Given the description of an element on the screen output the (x, y) to click on. 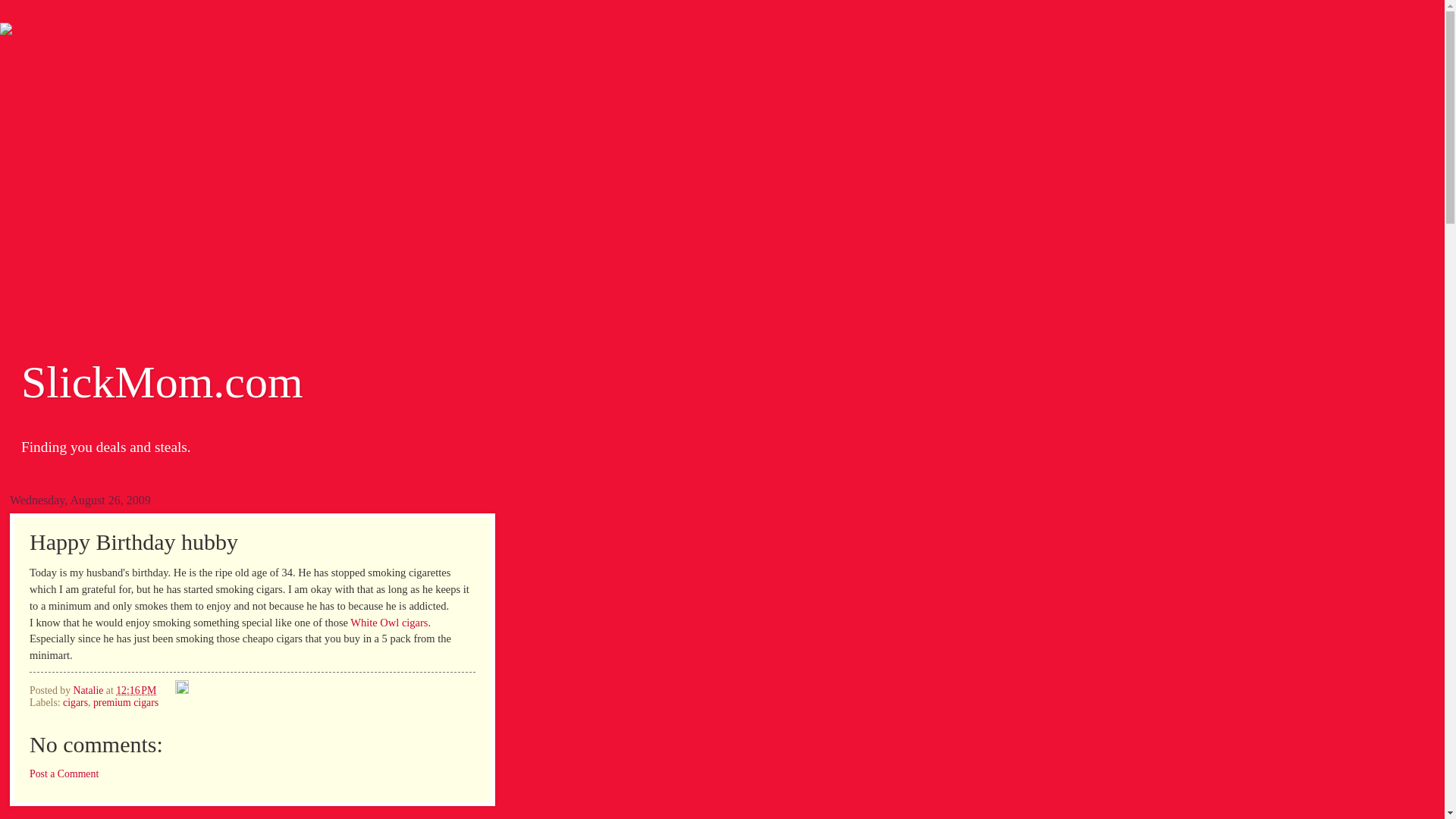
Post a Comment (64, 773)
White Owl cigars (389, 622)
Email Post (166, 690)
cigars (74, 702)
Edit Post (181, 690)
premium cigars (125, 702)
author profile (88, 690)
permanent link (135, 690)
SlickMom.com (161, 382)
Natalie (88, 690)
